Given the description of an element on the screen output the (x, y) to click on. 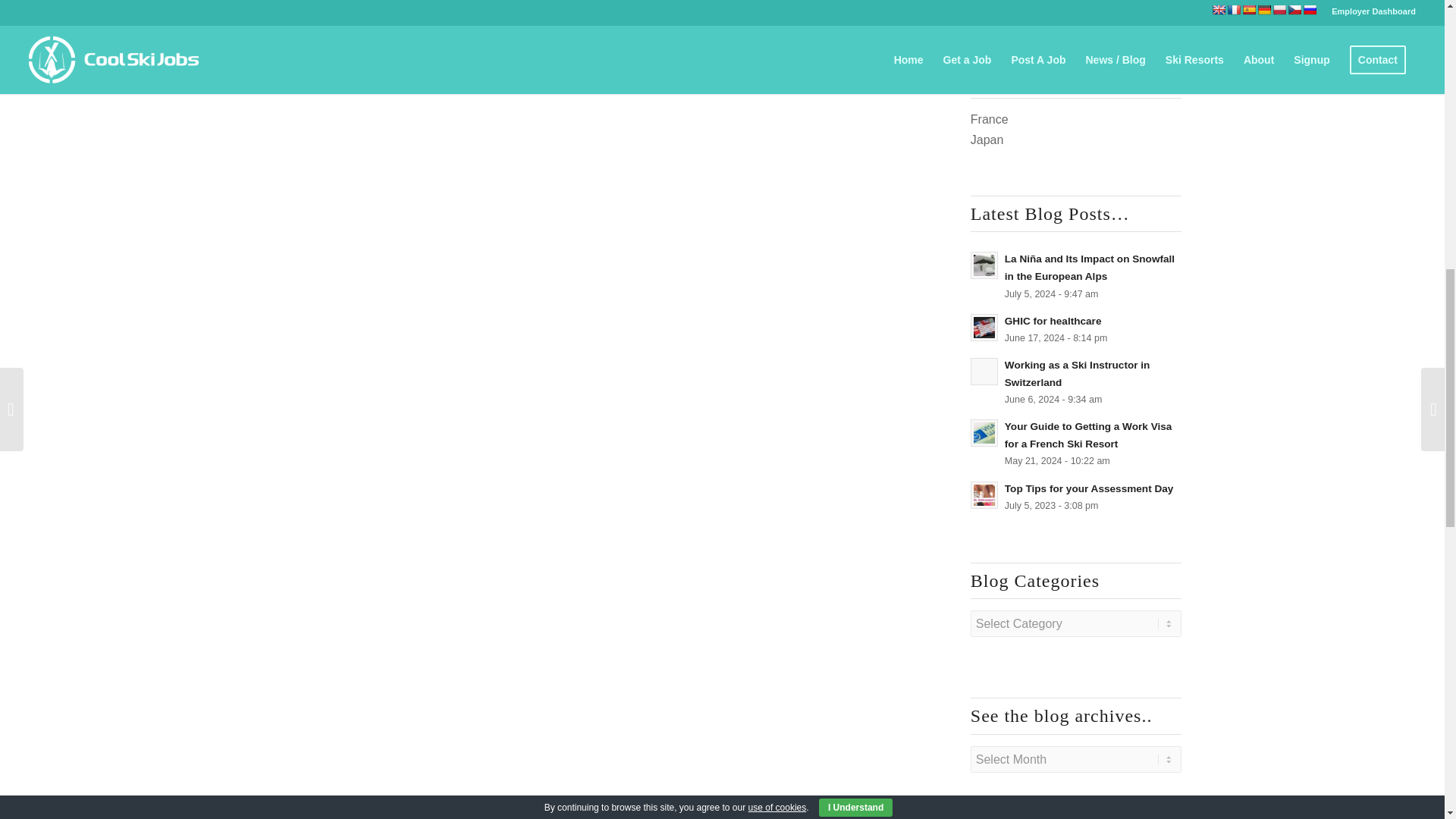
Read: GHIC for healthcare (984, 327)
